Given the description of an element on the screen output the (x, y) to click on. 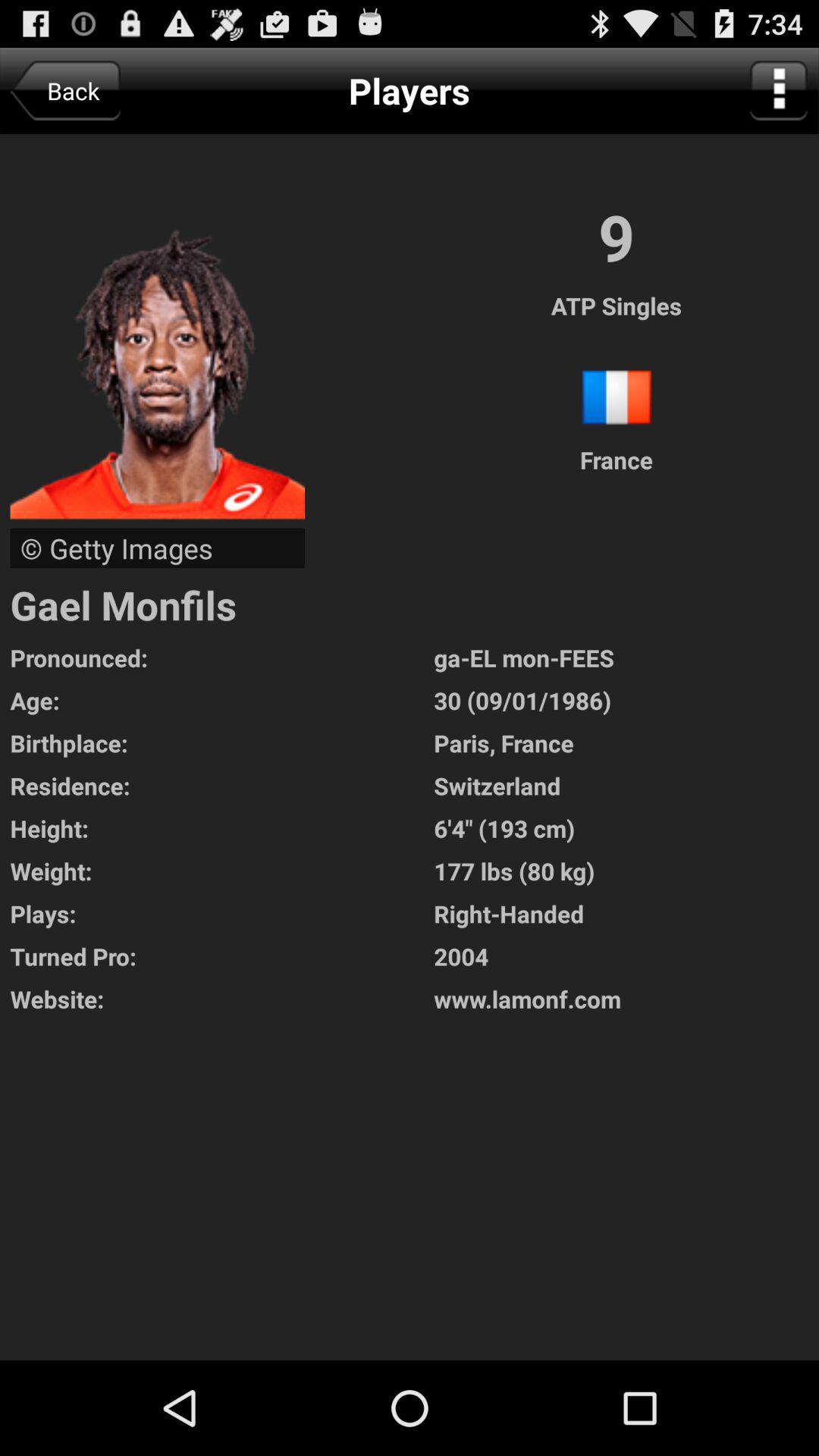
turn on the item above the age: app (221, 657)
